Given the description of an element on the screen output the (x, y) to click on. 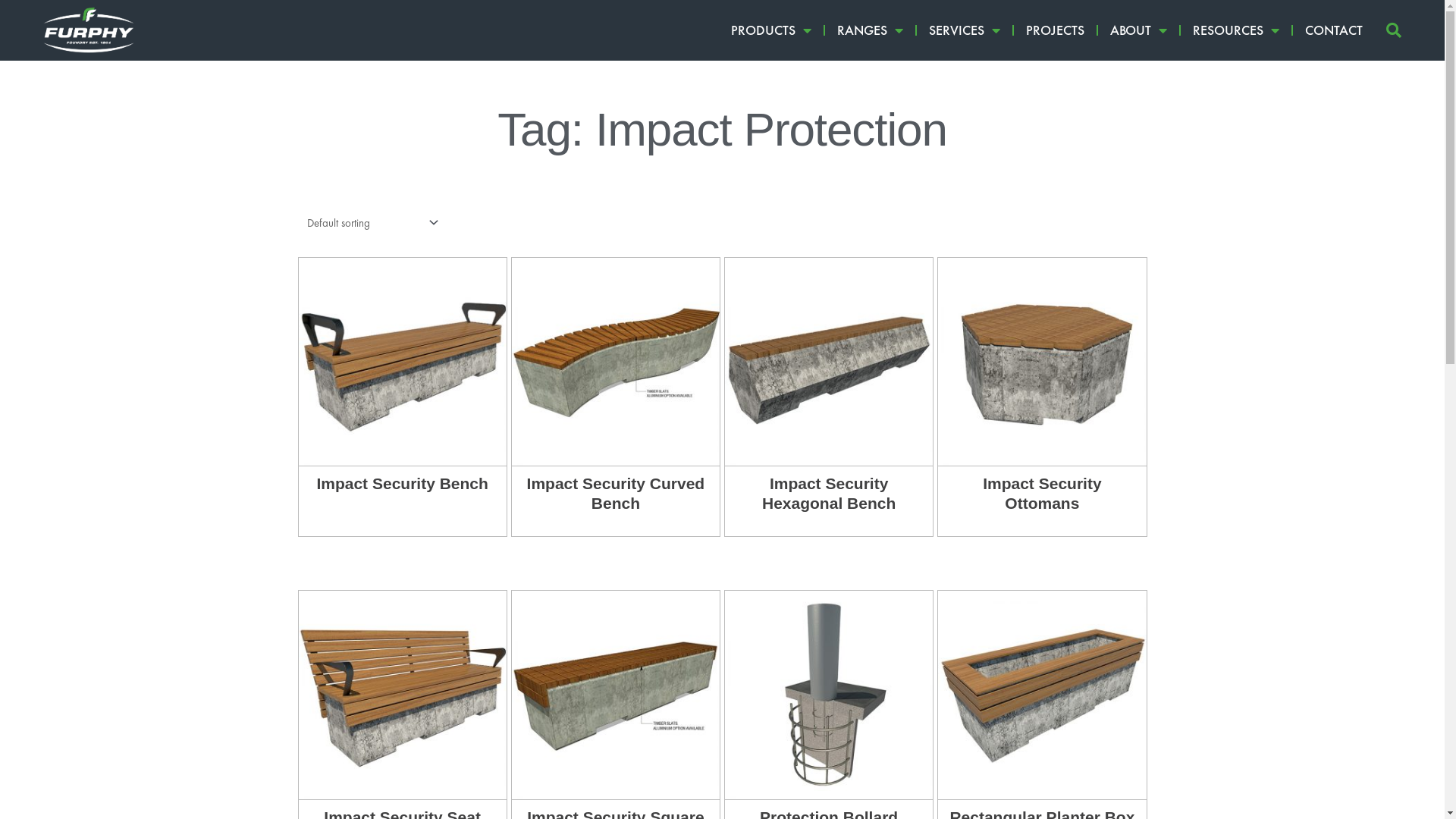
Impact Security Ottomans Element type: text (1041, 501)
CONTACT Element type: text (1333, 30)
RANGES Element type: text (870, 30)
PROJECTS Element type: text (1054, 30)
SERVICES Element type: text (964, 30)
RESOURCES Element type: text (1235, 30)
ABOUT Element type: text (1138, 30)
Impact Security Hexagonal Bench Element type: text (828, 501)
Impact Security Curved Bench Element type: text (615, 501)
Impact Security Bench Element type: text (401, 491)
PRODUCTS Element type: text (770, 30)
